Given the description of an element on the screen output the (x, y) to click on. 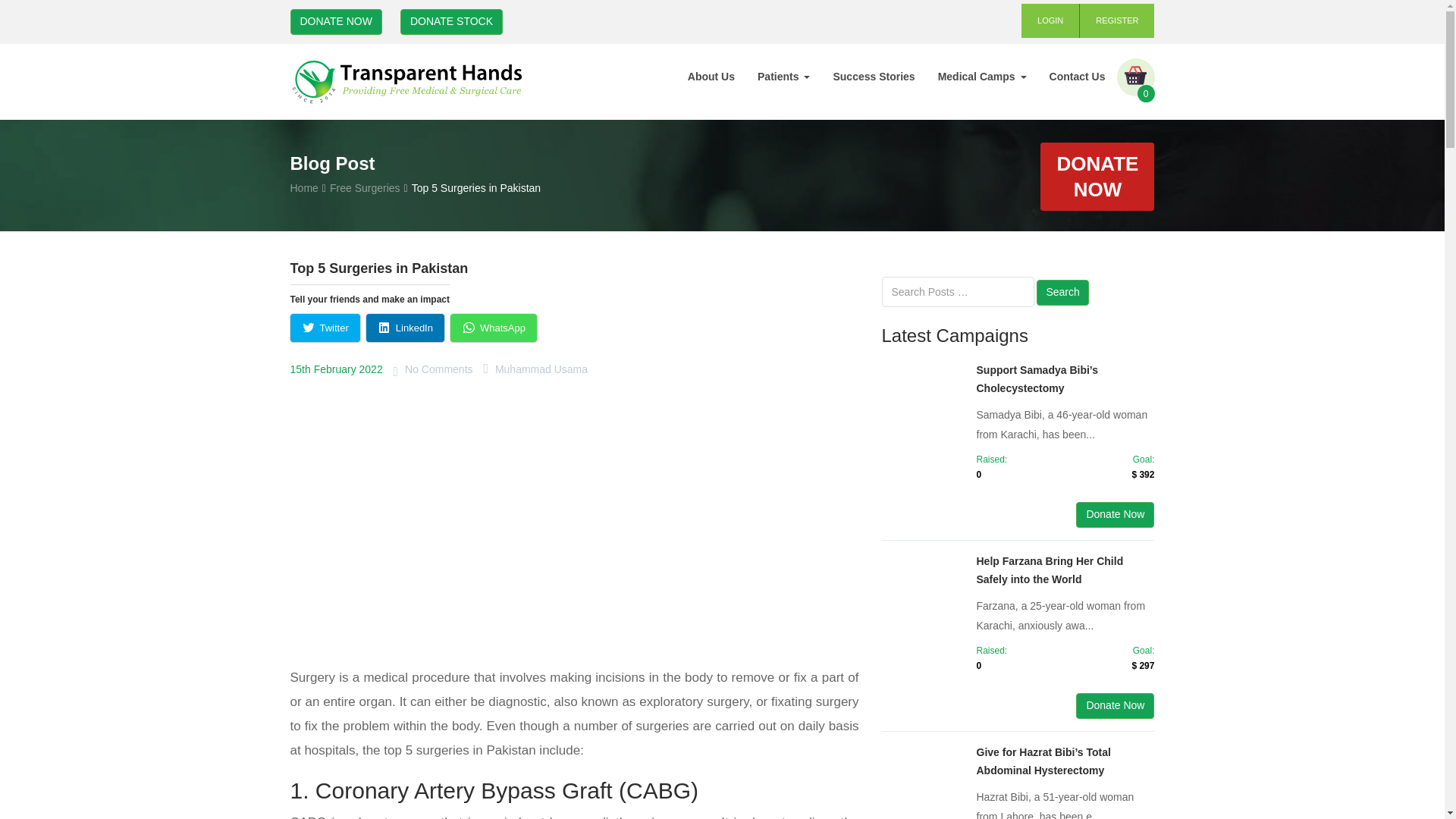
REGISTER (1117, 20)
Click to share on Twitter (324, 327)
DONATE STOCK (451, 22)
LOGIN (1051, 20)
DONATE NOW (335, 22)
Success Stories (873, 76)
Patients (783, 76)
WhatsApp (493, 327)
No Comments (437, 369)
Home (303, 187)
